Given the description of an element on the screen output the (x, y) to click on. 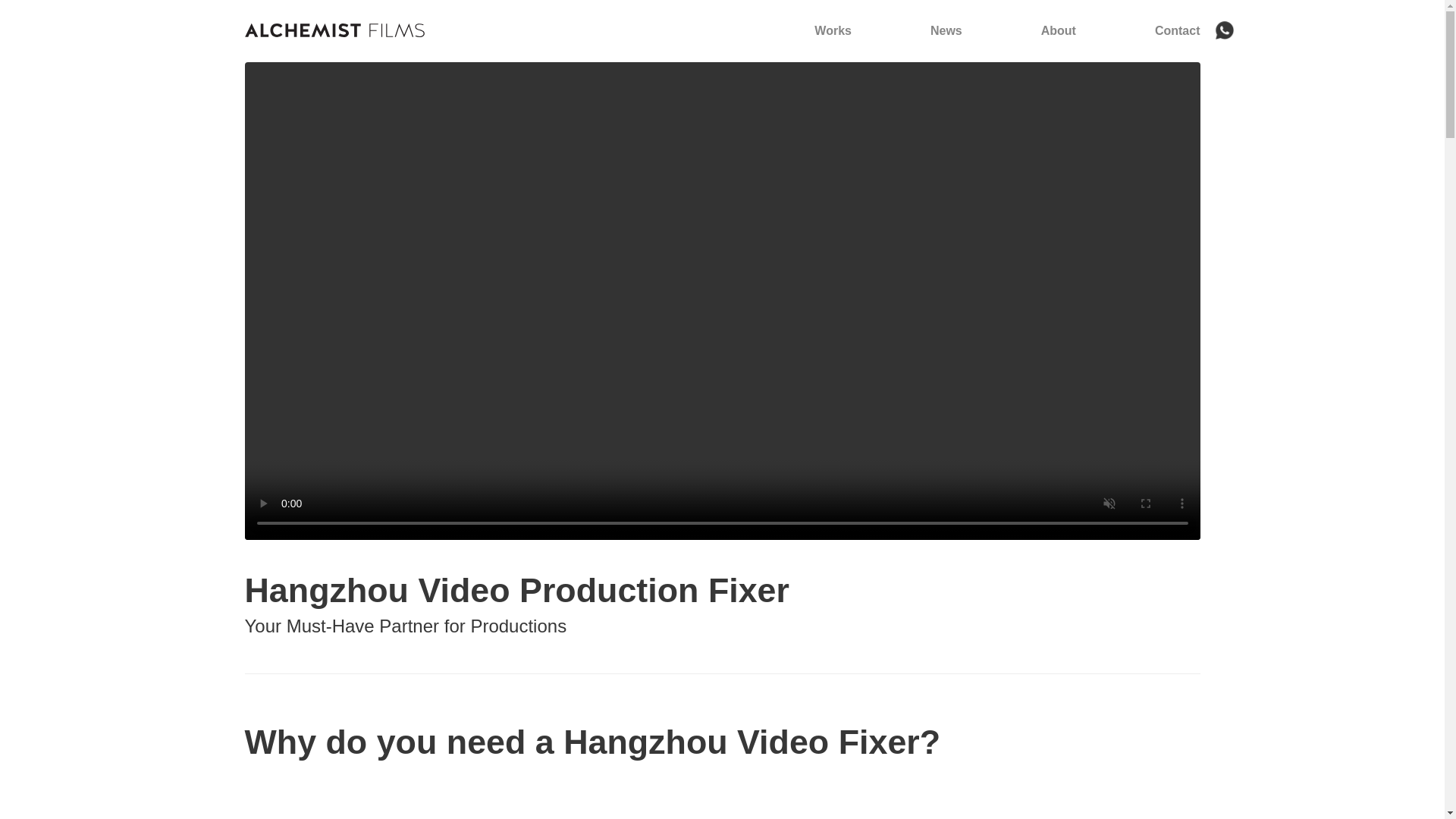
Works (832, 30)
About (1058, 30)
Contact (1176, 30)
News (946, 30)
